Given the description of an element on the screen output the (x, y) to click on. 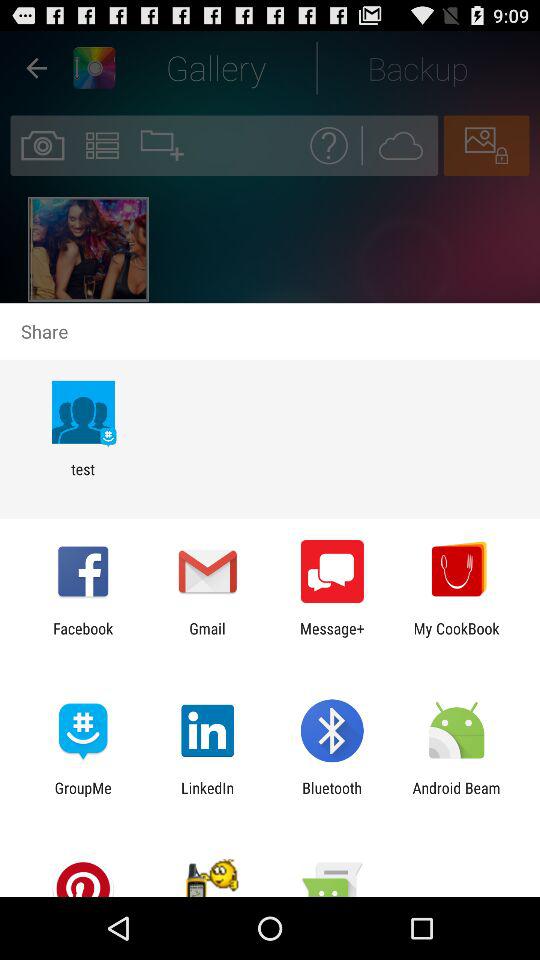
turn on the item next to the gmail (83, 637)
